Given the description of an element on the screen output the (x, y) to click on. 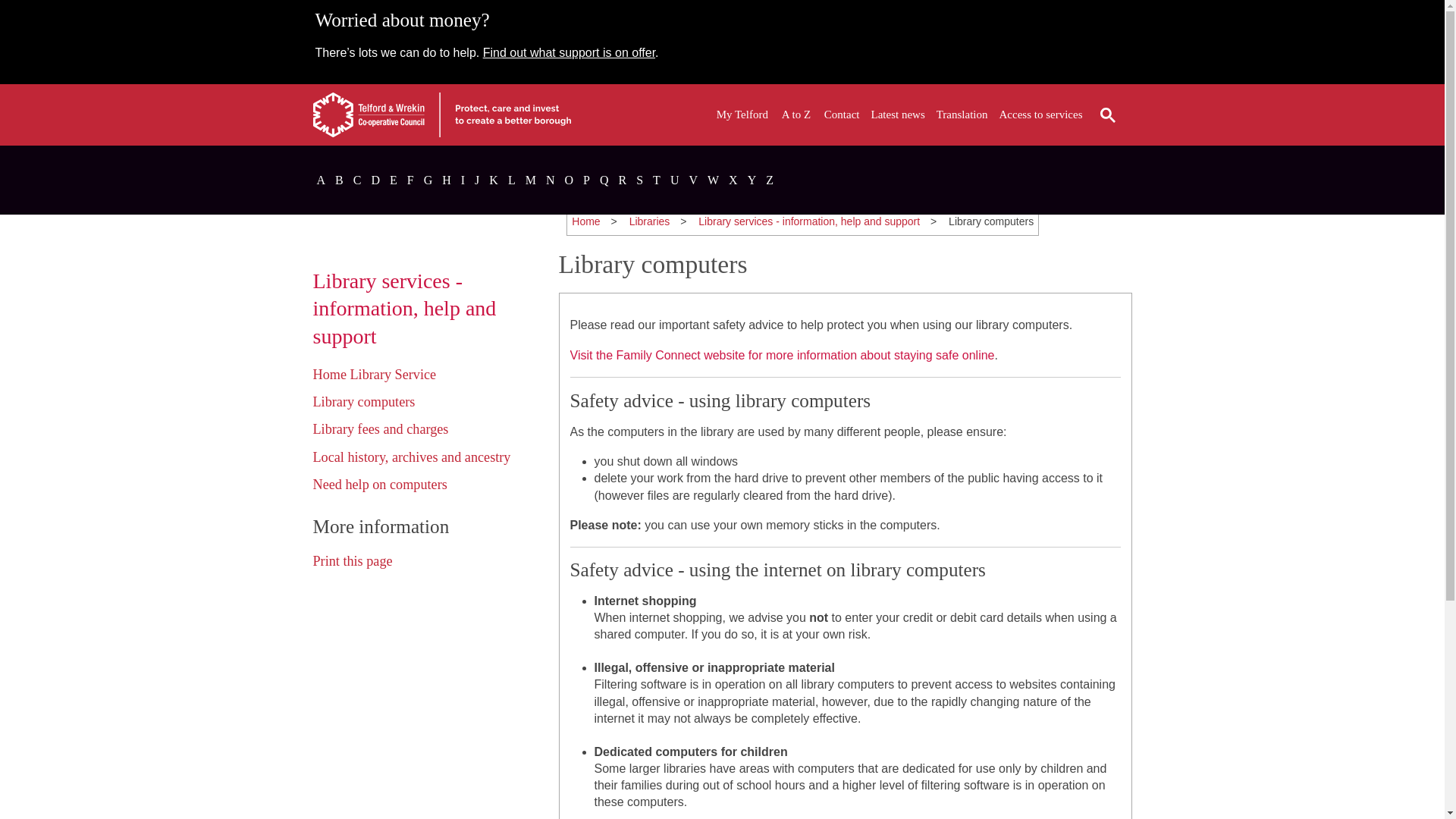
Translation (962, 114)
My Telford (742, 114)
Search (1107, 114)
A to Z (795, 114)
Home (585, 221)
Access to services (1040, 114)
Advice and support about making sure safety online. (782, 354)
Latest news (897, 114)
Contact (842, 114)
